Given the description of an element on the screen output the (x, y) to click on. 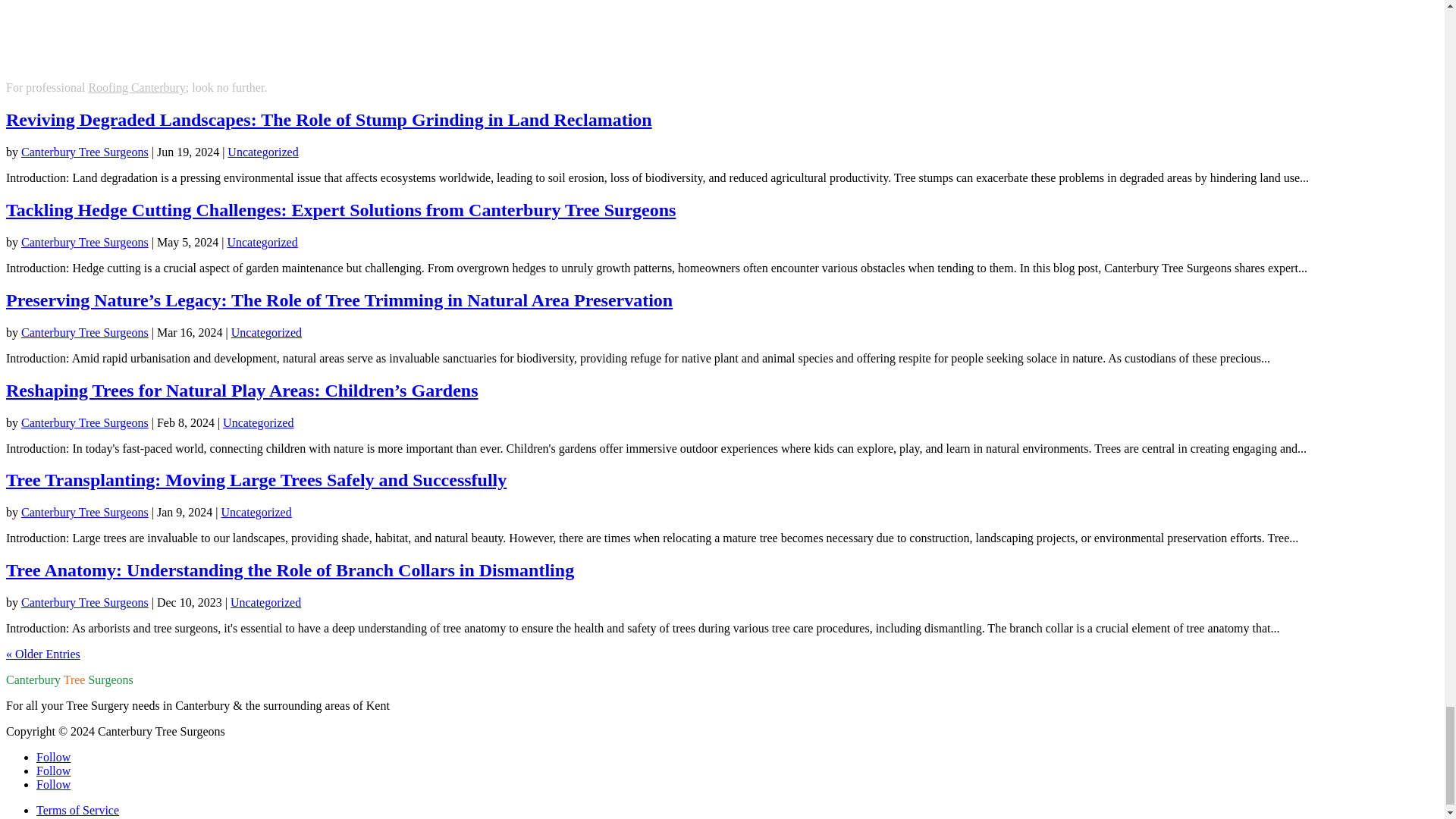
Canterbury Tree Surgeons (84, 151)
Canterbury Tree Surgeons (84, 241)
Posts by Canterbury Tree Surgeons (84, 241)
Uncategorized (262, 241)
Posts by Canterbury Tree Surgeons (84, 602)
Follow on Youtube (52, 784)
Roofing Canterbury (135, 87)
Follow on X (52, 770)
Posts by Canterbury Tree Surgeons (84, 422)
Posts by Canterbury Tree Surgeons (84, 151)
Canterbury Tree Surgeons (84, 332)
Follow on Facebook (52, 757)
Posts by Canterbury Tree Surgeons (84, 512)
